Given the description of an element on the screen output the (x, y) to click on. 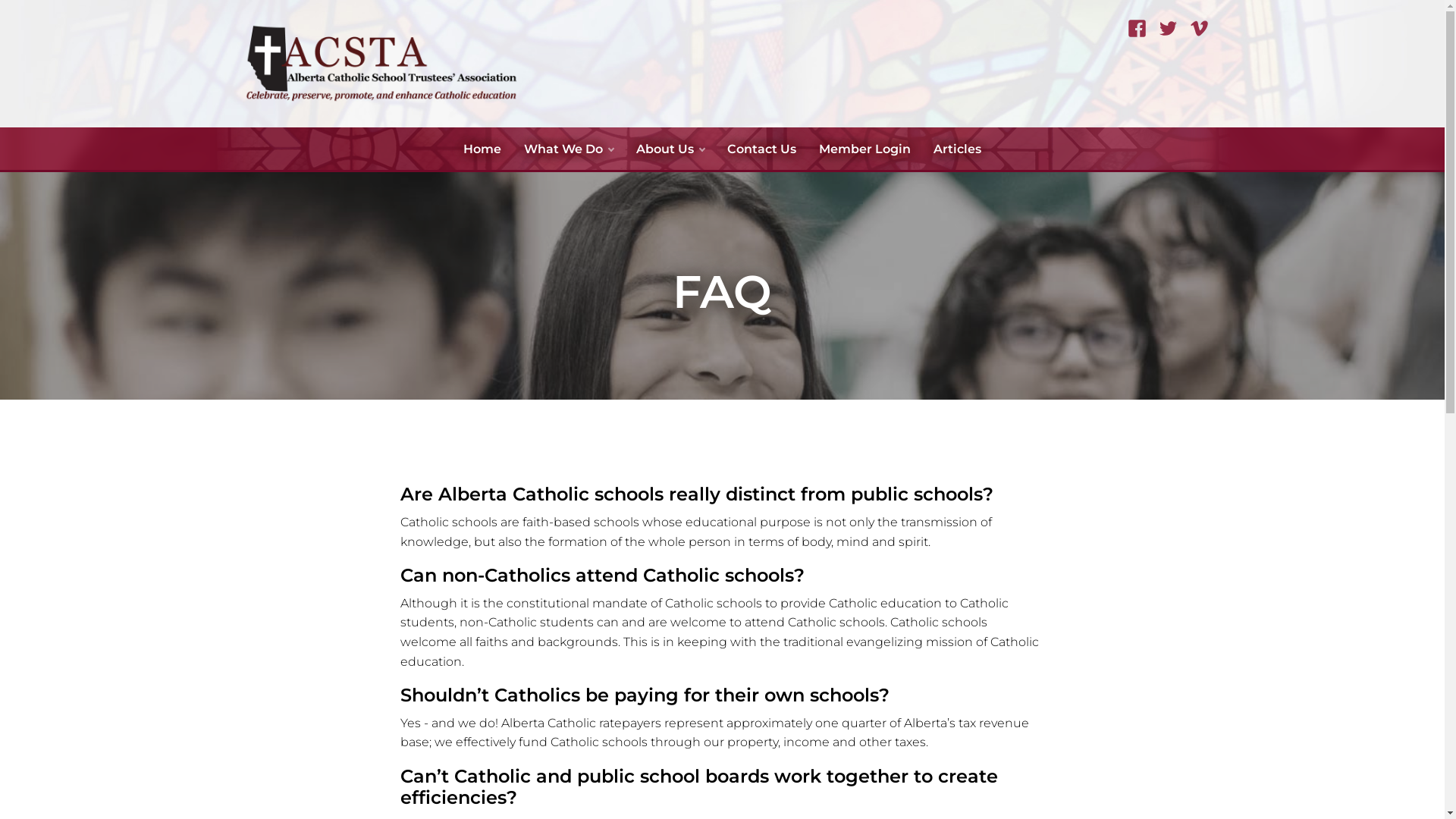
Member Login Element type: text (864, 148)
Home Element type: text (481, 148)
Contact Us Element type: text (761, 148)
Articles Element type: text (957, 148)
